Given the description of an element on the screen output the (x, y) to click on. 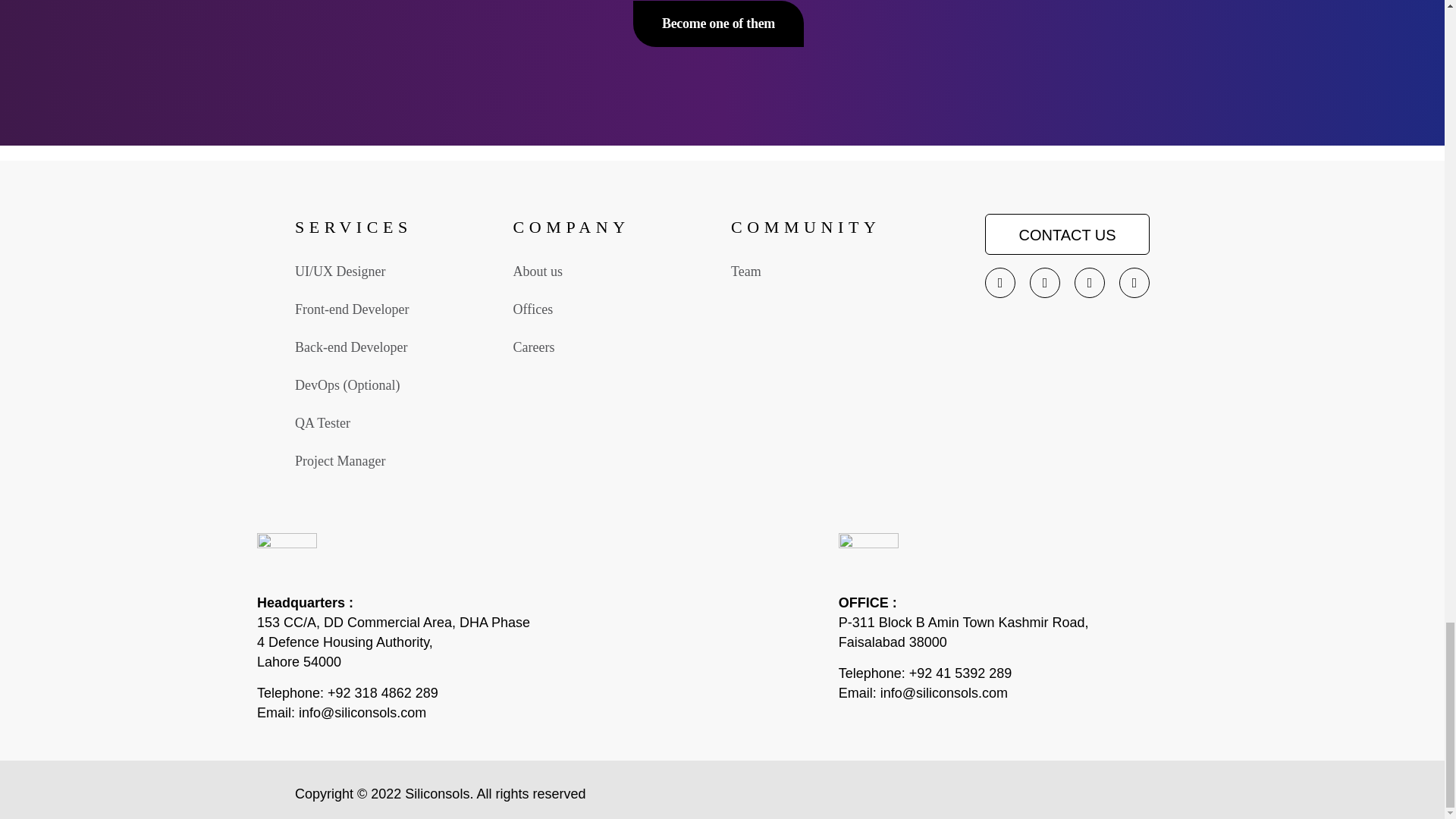
CONTACT US (1067, 233)
Offices (532, 309)
Team (745, 271)
Project Manager (340, 460)
QA Tester (322, 422)
Careers (533, 346)
Back-end Developer (351, 346)
Become one of them (718, 23)
About us (537, 271)
Front-end Developer (352, 309)
